Given the description of an element on the screen output the (x, y) to click on. 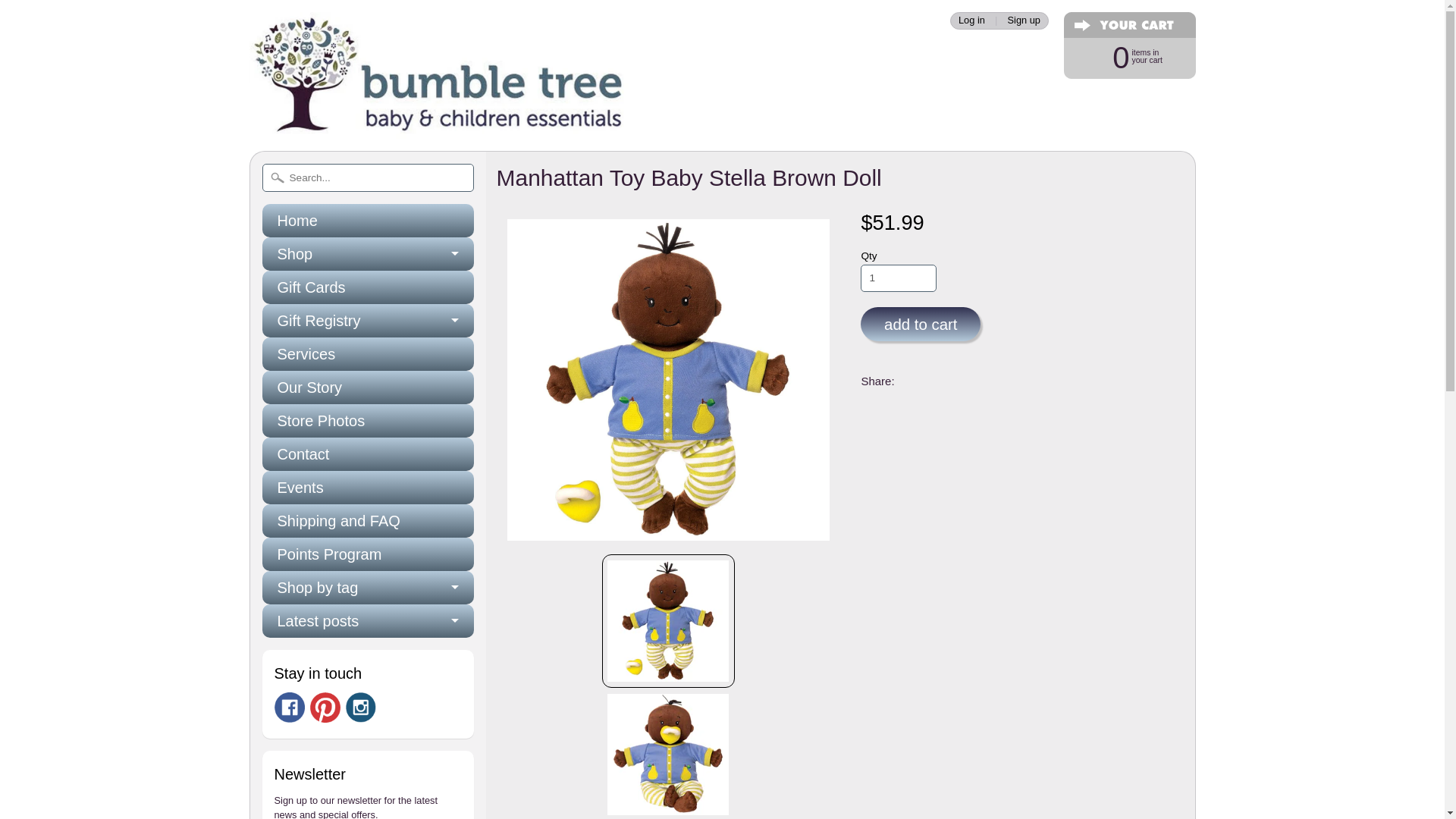
Log in (970, 20)
Home (368, 220)
Sign up (1024, 20)
Bumble Tree Baby and Children's Essentials (437, 117)
1 (1122, 56)
Shop (898, 277)
